Given the description of an element on the screen output the (x, y) to click on. 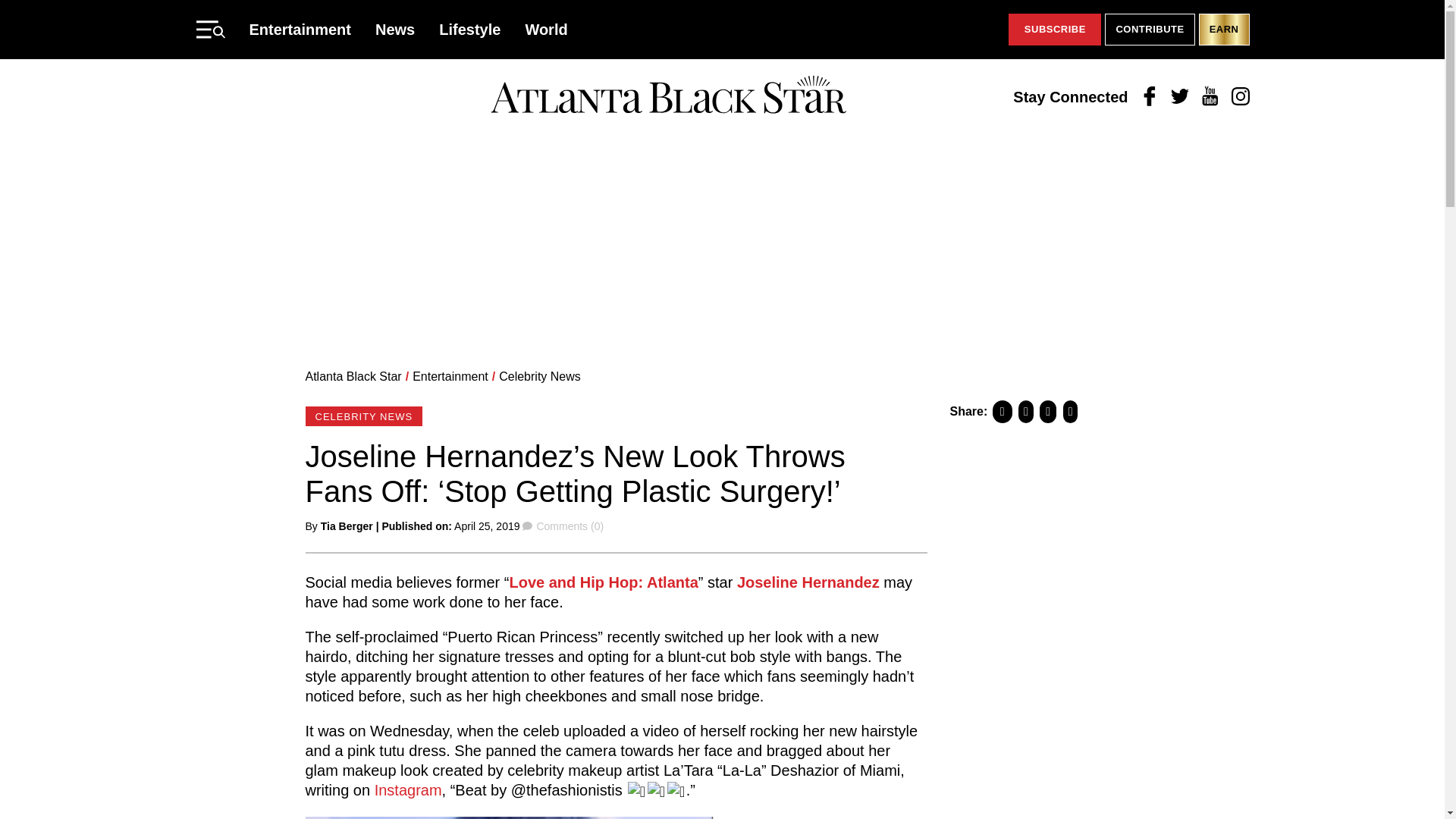
SUBSCRIBE (1054, 29)
Lifestyle (469, 29)
Go to the Celebrity News Category archives. (539, 376)
Go to Atlanta Black Star. (352, 376)
World (545, 29)
Entertainment (299, 29)
Go to the Entertainment Category archives. (449, 376)
News (394, 29)
Atlanta Black Star (352, 376)
Atlanta Black Star (667, 96)
Entertainment (449, 376)
EARN (1223, 29)
CONTRIBUTE (1149, 29)
